Given the description of an element on the screen output the (x, y) to click on. 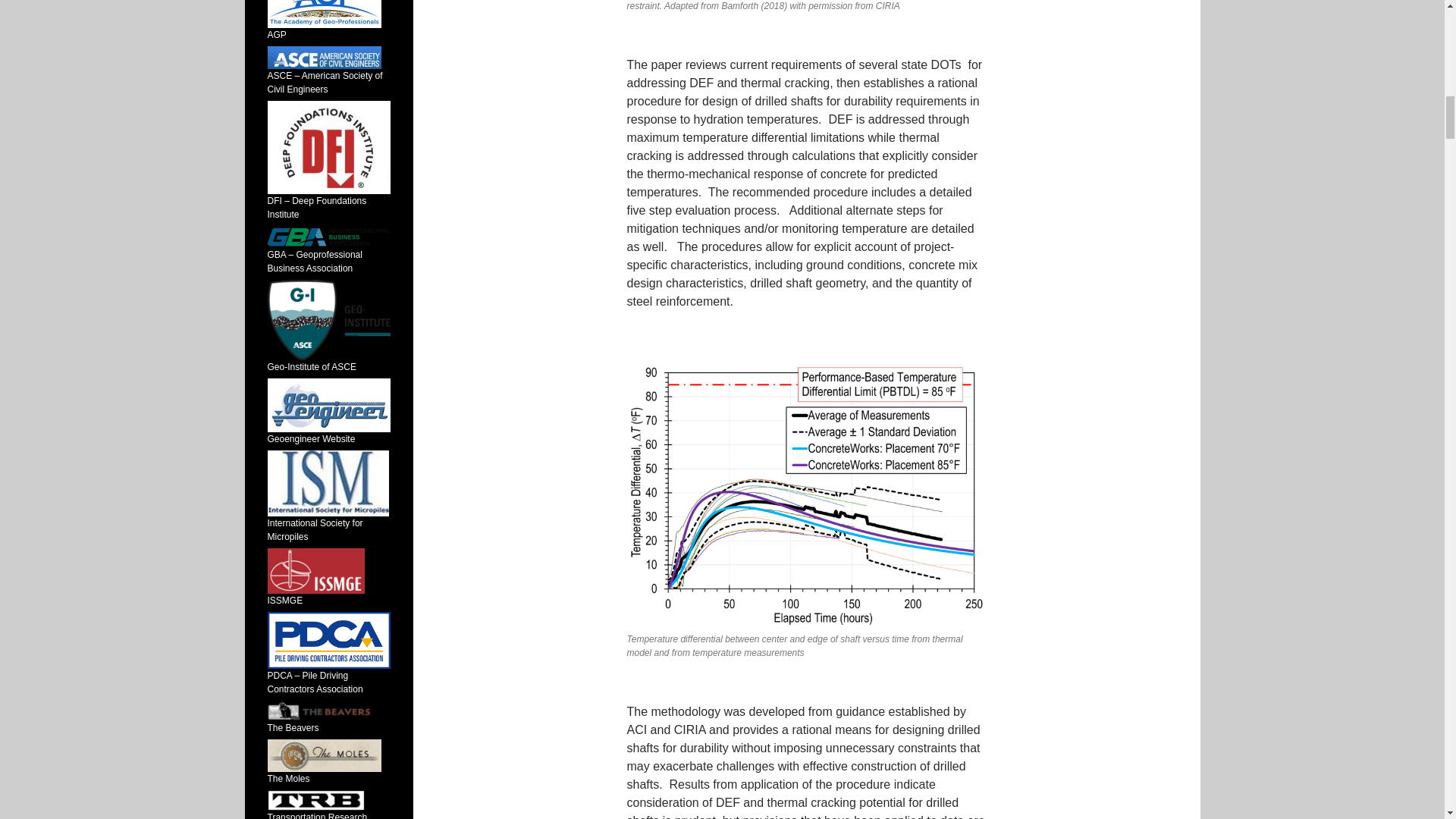
The Academy of Geo-Professionals (323, 20)
Geo-Institute of ASCE (328, 320)
Deep Foundations Institute (328, 147)
American Society of Civil Engineers (323, 73)
Geo-Institute of ASCE (328, 342)
The Academy of Geo-Professionals (323, 13)
American Society of Civil Engineers (323, 56)
Deep Foundations Institute (328, 180)
